Given the description of an element on the screen output the (x, y) to click on. 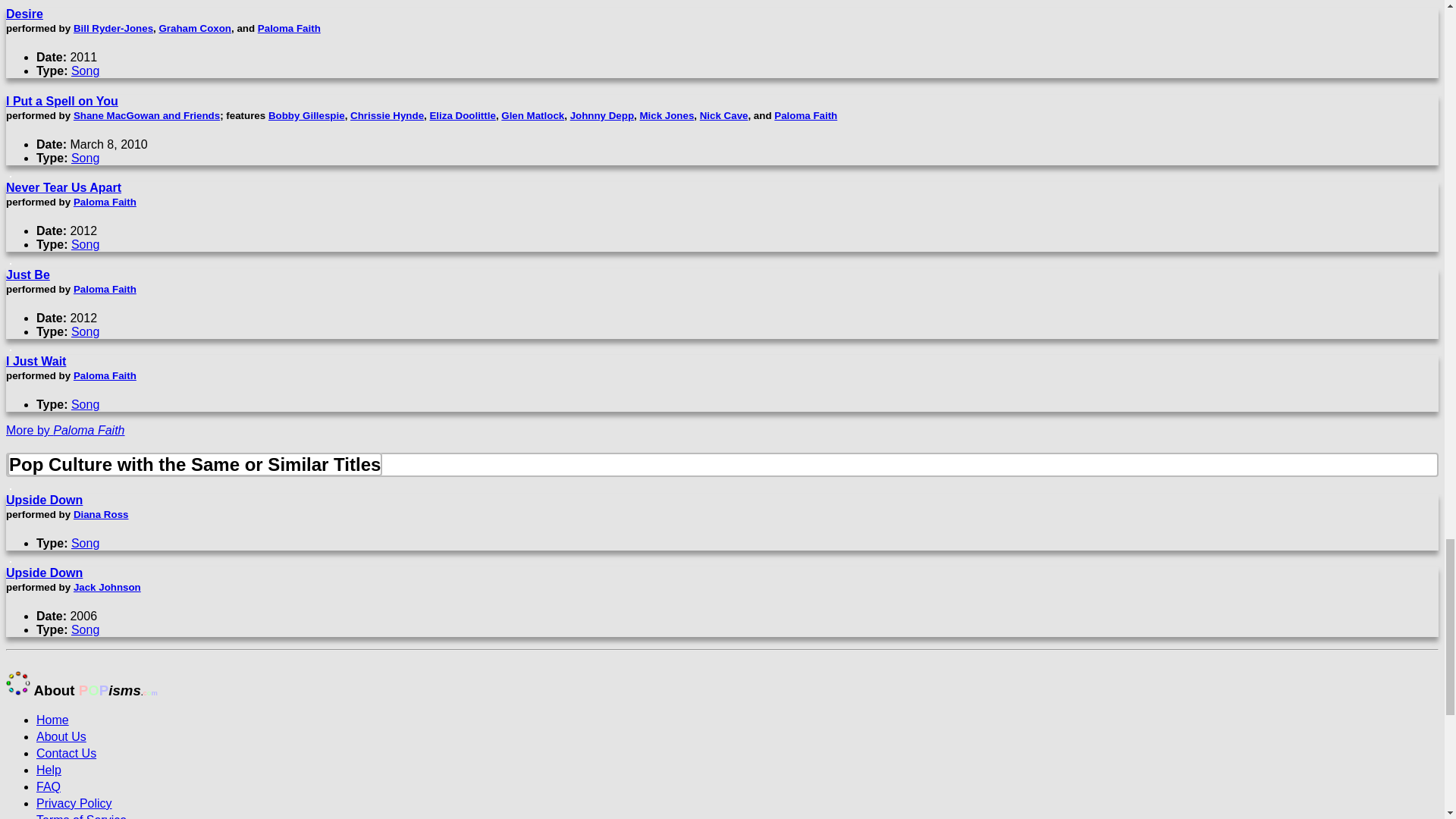
Frequently Asked Questions (48, 786)
